Given the description of an element on the screen output the (x, y) to click on. 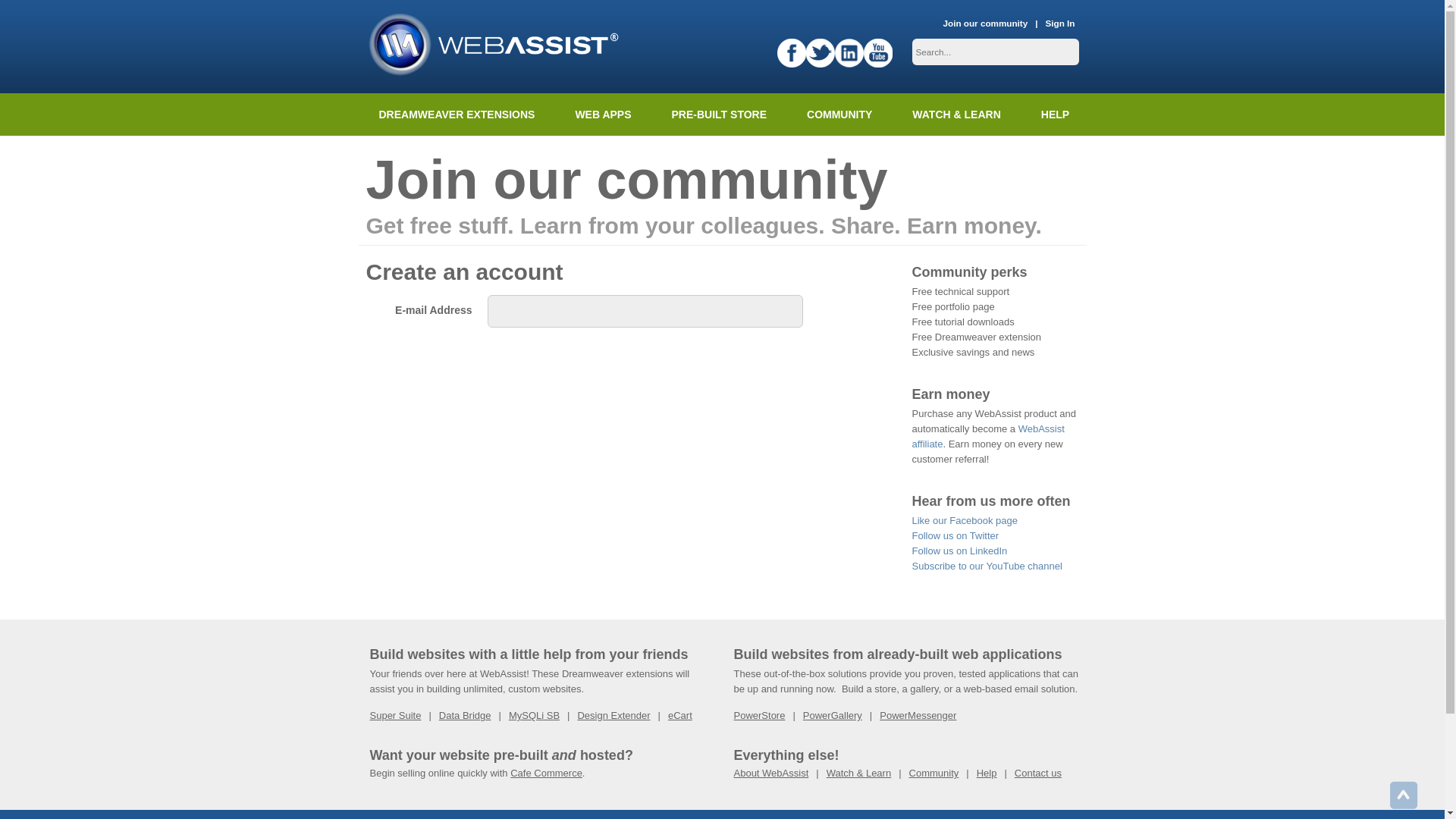
DREAMWEAVER EXTENSIONS (456, 114)
WEB APPS (602, 114)
COMMUNITY (838, 114)
PRE-BUILT STORE (718, 114)
Join our community (985, 23)
HELP (1054, 114)
Search (22, 10)
Sign In (1060, 23)
